Given the description of an element on the screen output the (x, y) to click on. 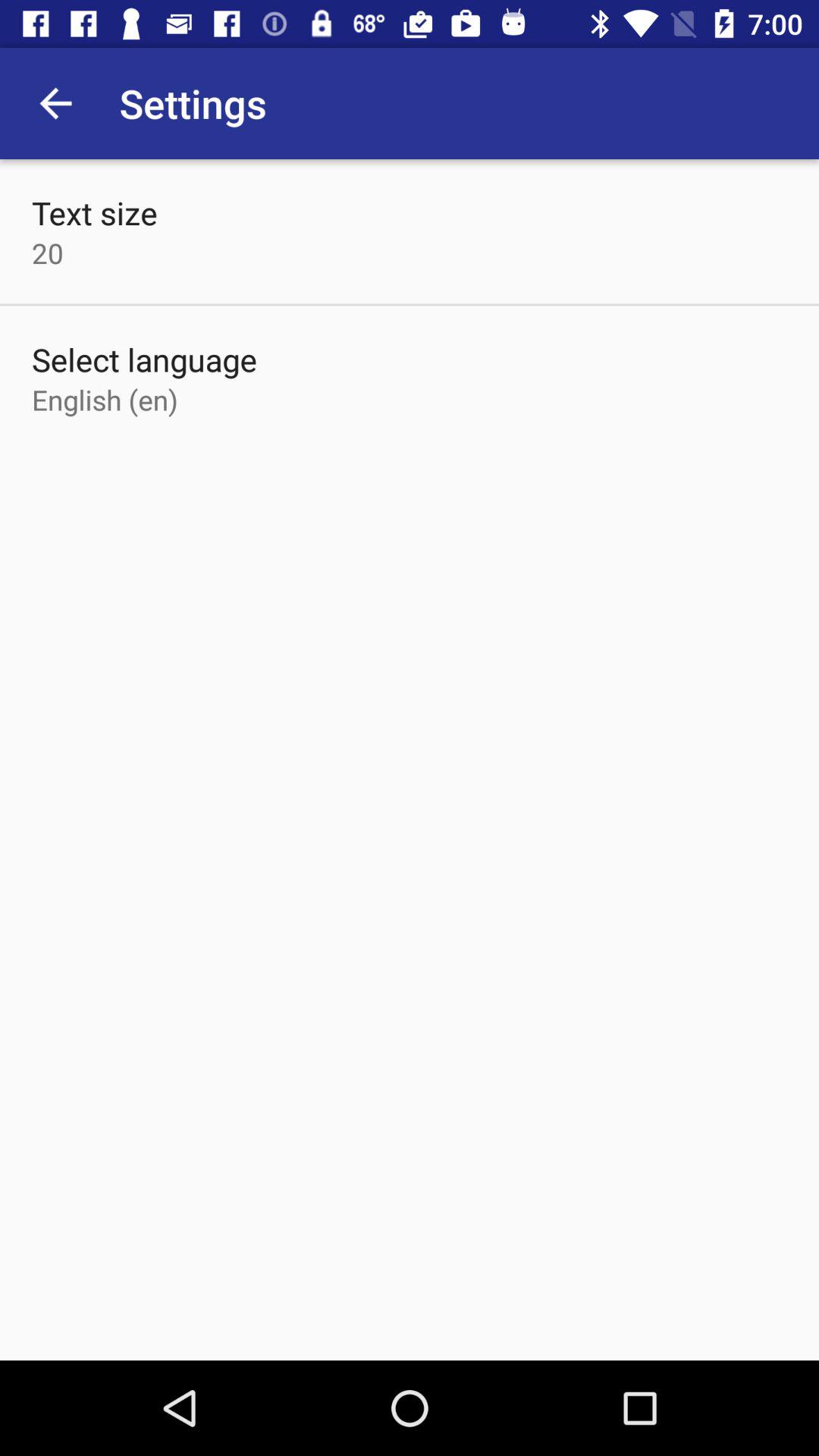
select the item next to the settings (55, 103)
